Given the description of an element on the screen output the (x, y) to click on. 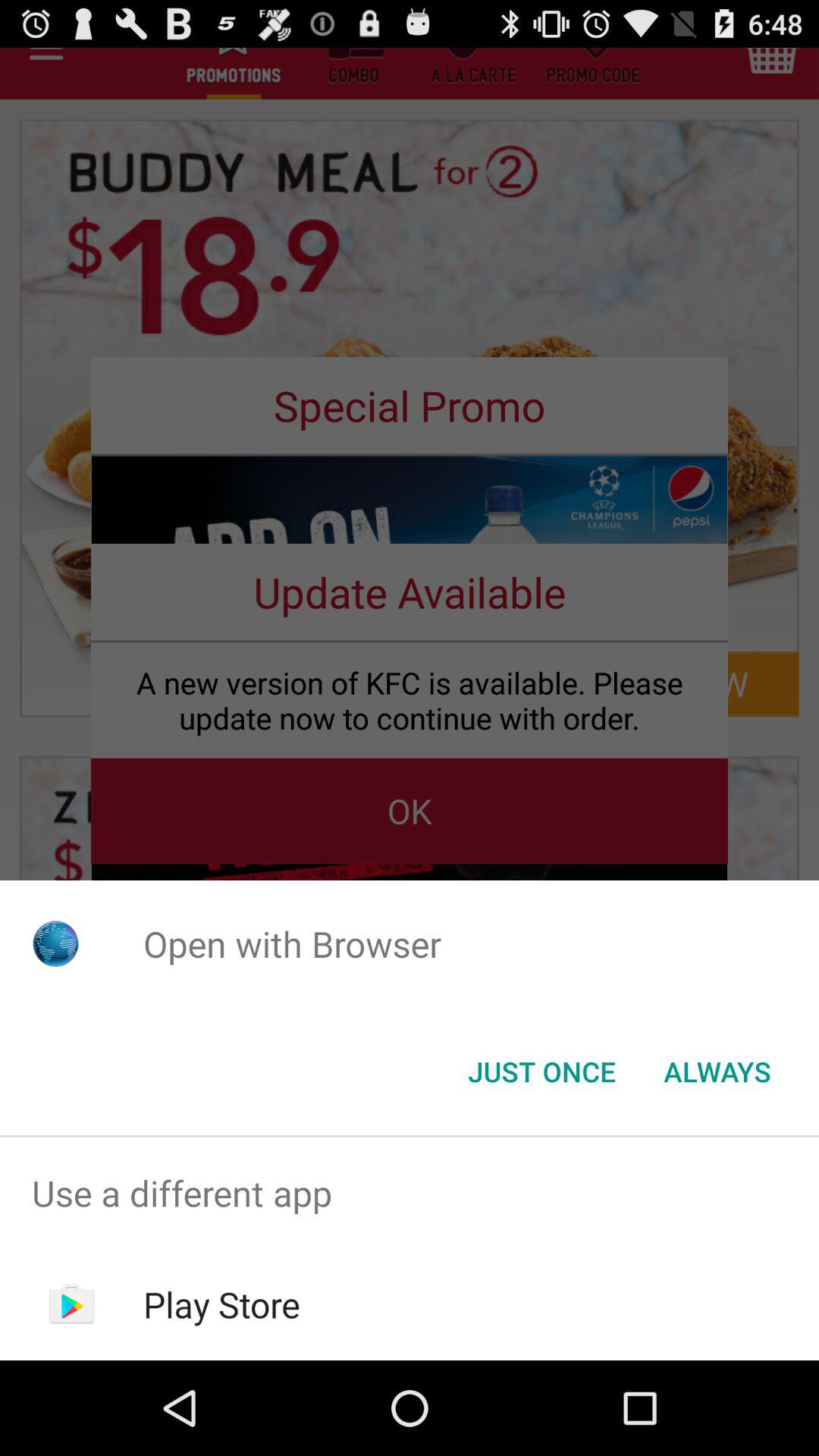
flip to play store item (221, 1304)
